Given the description of an element on the screen output the (x, y) to click on. 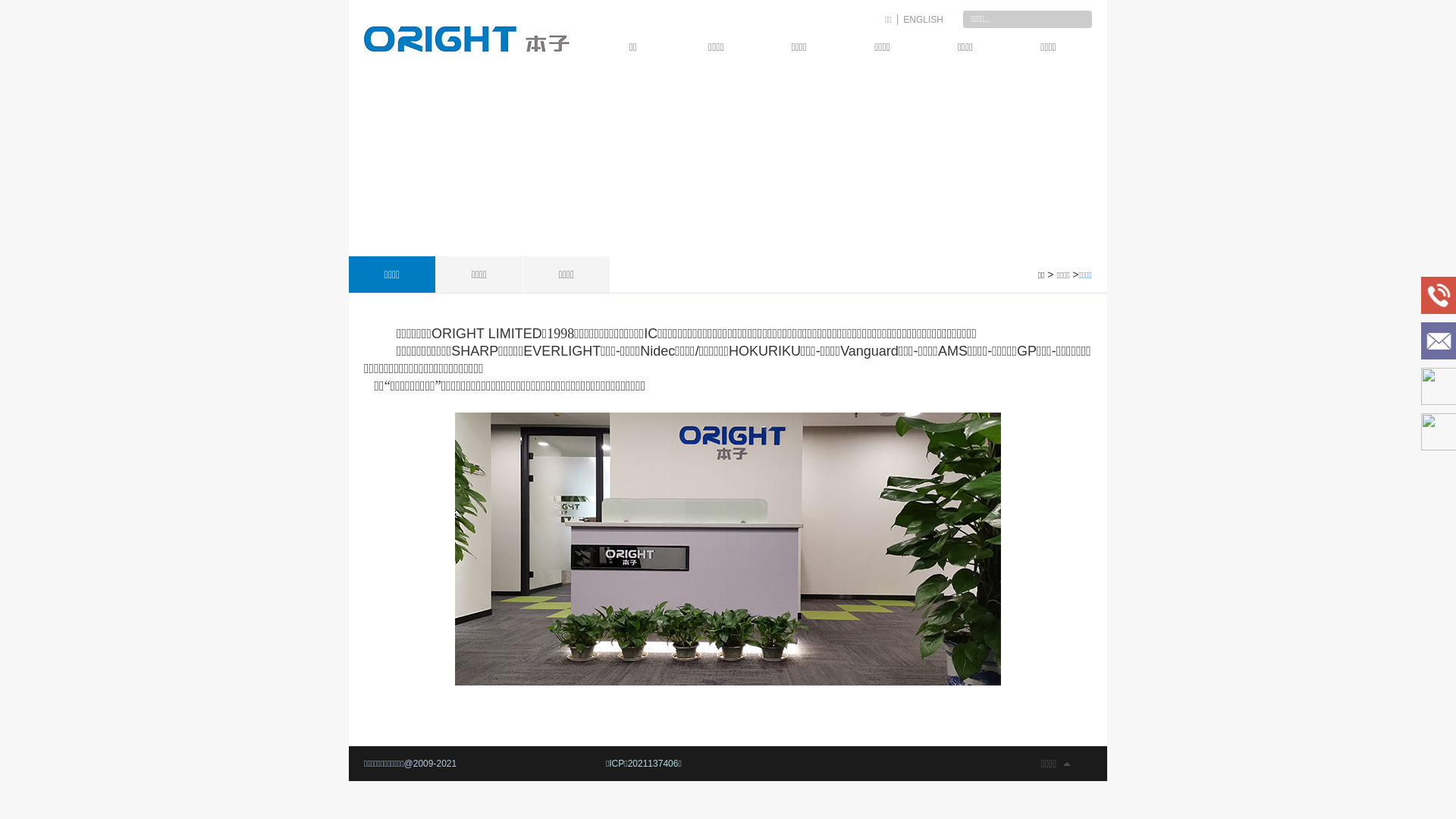
  Element type: text (1083, 19)
ENGLISH Element type: text (923, 19)
